Given the description of an element on the screen output the (x, y) to click on. 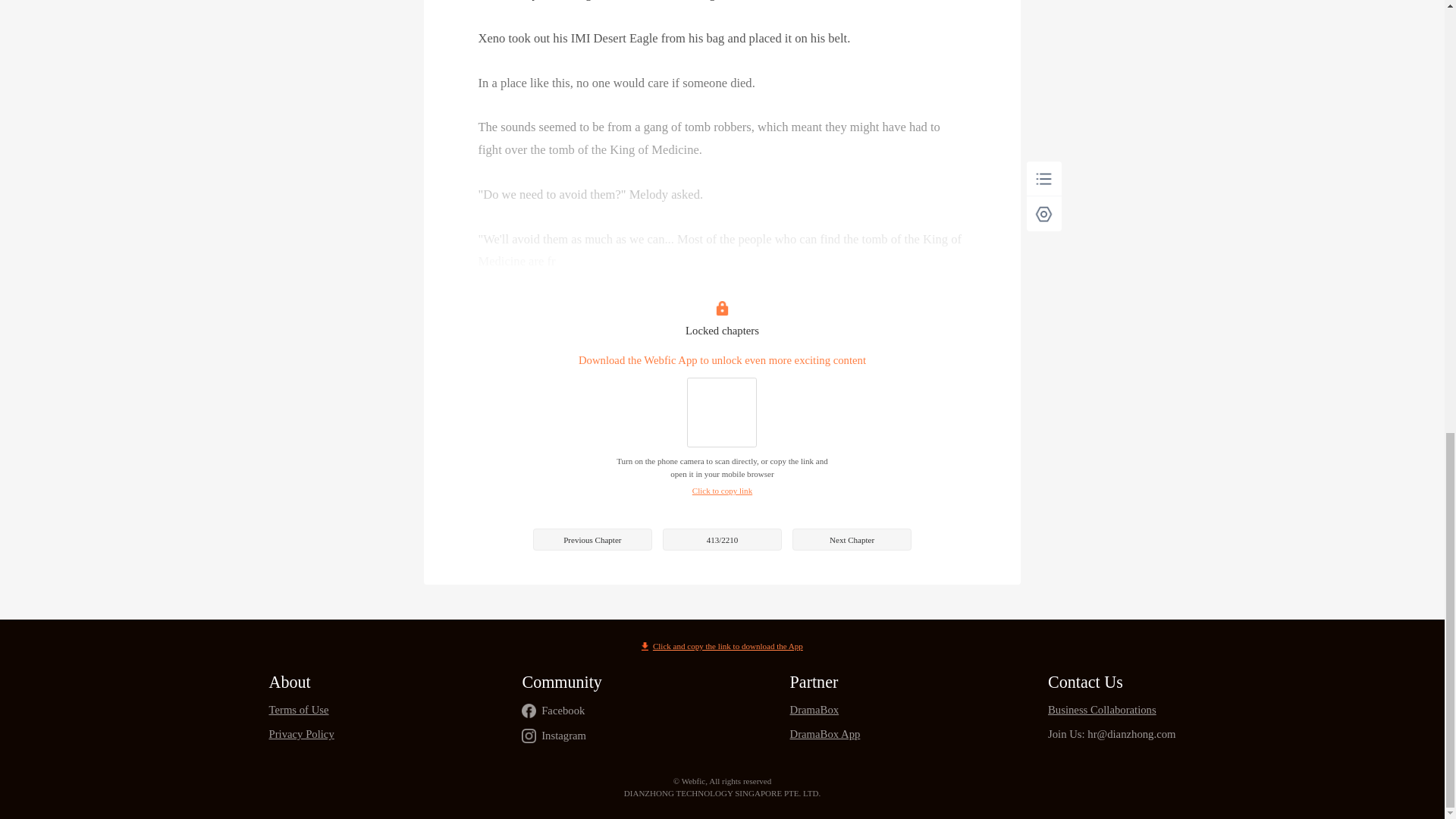
Privacy Policy (300, 734)
Terms of Use (300, 709)
DramaBox App (825, 734)
Next Chapter (851, 539)
Previous Chapter (591, 539)
Instagram (563, 735)
DramaBox (825, 709)
Business Collaborations (1112, 709)
Facebook (563, 710)
